Given the description of an element on the screen output the (x, y) to click on. 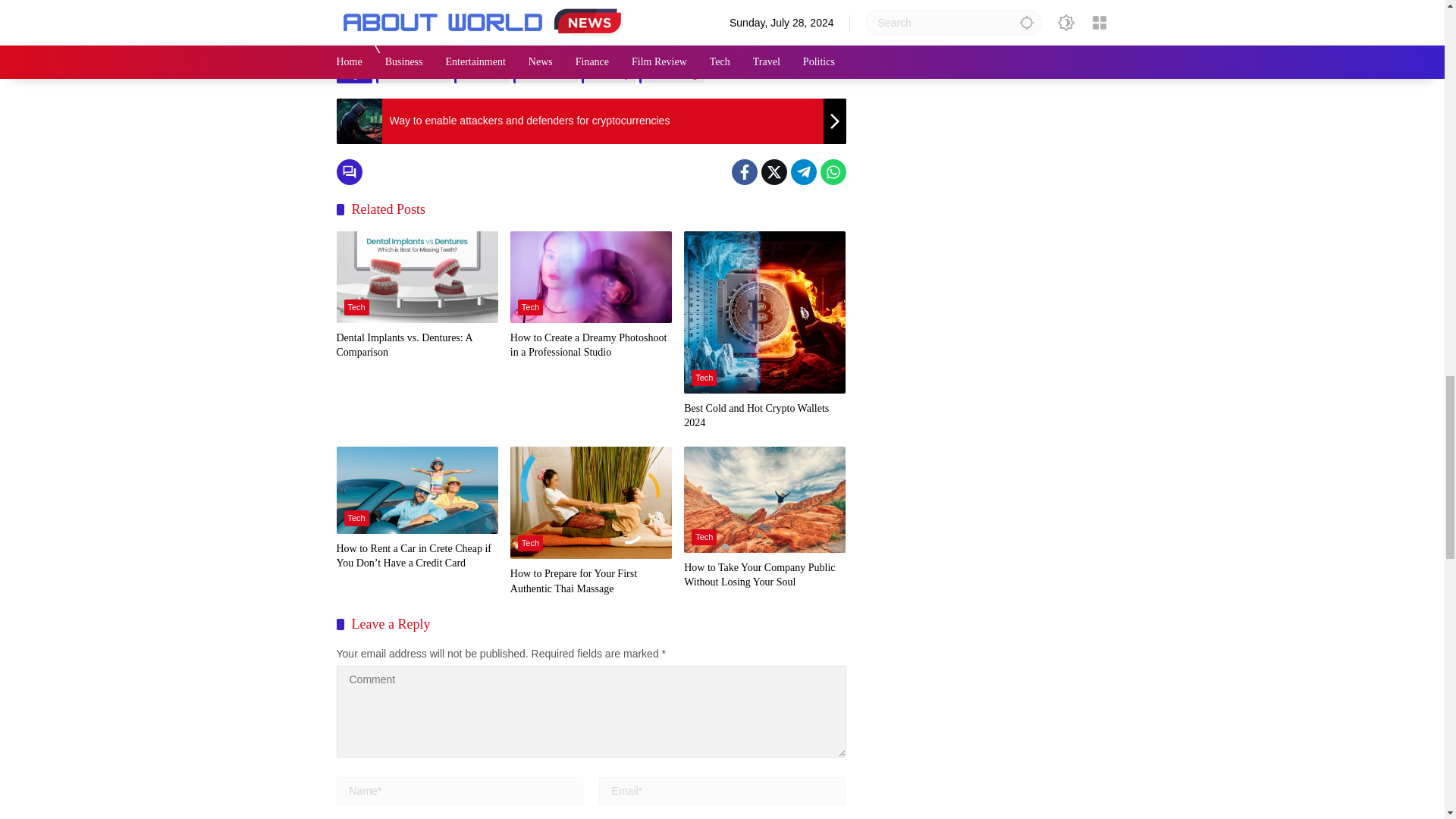
creates (481, 73)
Exclusive (545, 73)
Way to enable attackers and defenders for cryptocurrencies (590, 121)
Galaxy (607, 73)
Way to enable attackers and defenders for cryptocurrencies (358, 121)
Samsung (671, 73)
accessories (413, 73)
Way to enable attackers and defenders for cryptocurrencies (590, 121)
